Given the description of an element on the screen output the (x, y) to click on. 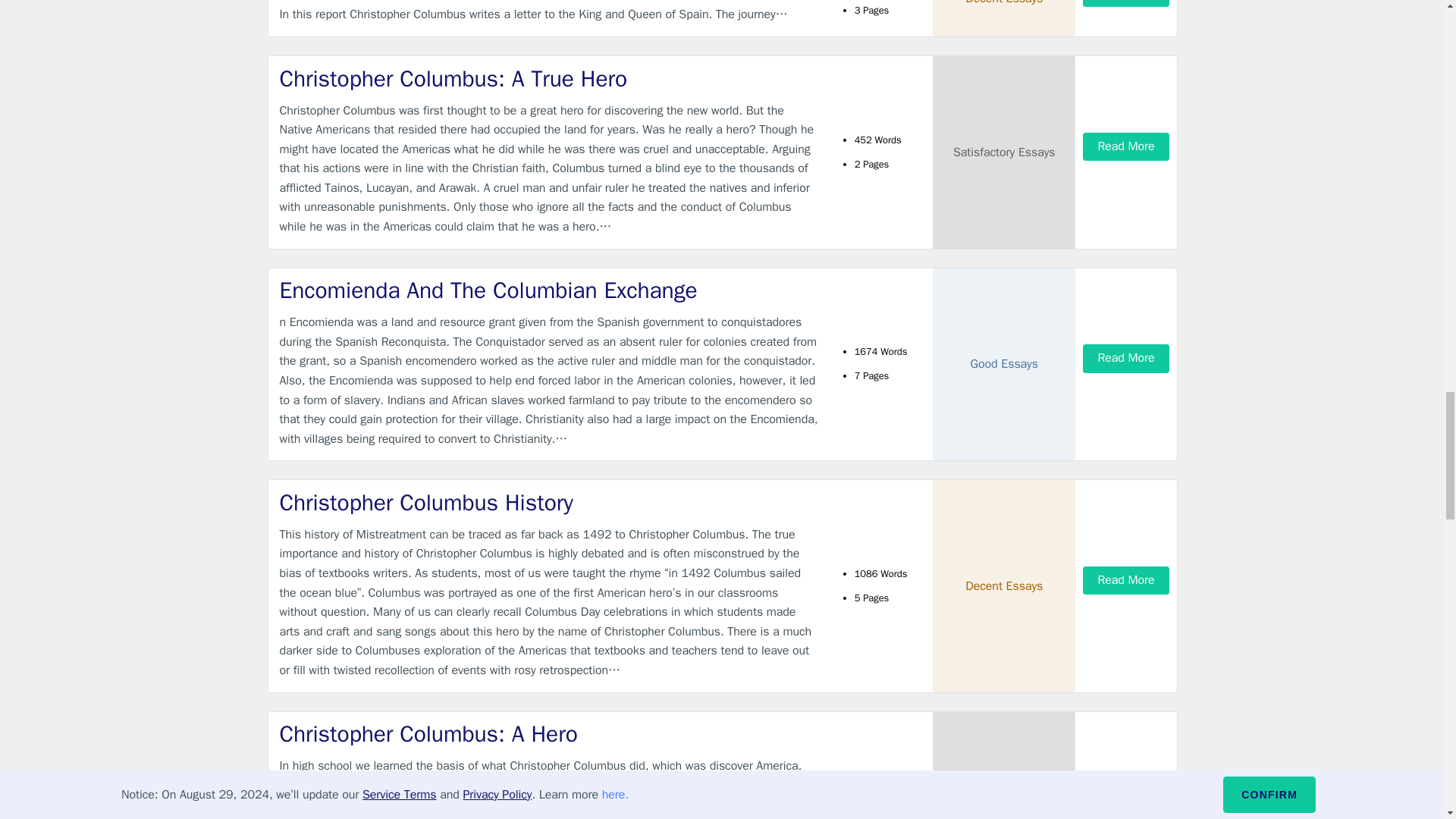
Read More (1126, 3)
Christopher Columbus: A True Hero (548, 79)
Read More (1126, 146)
Encomienda And The Columbian Exchange (548, 290)
